Given the description of an element on the screen output the (x, y) to click on. 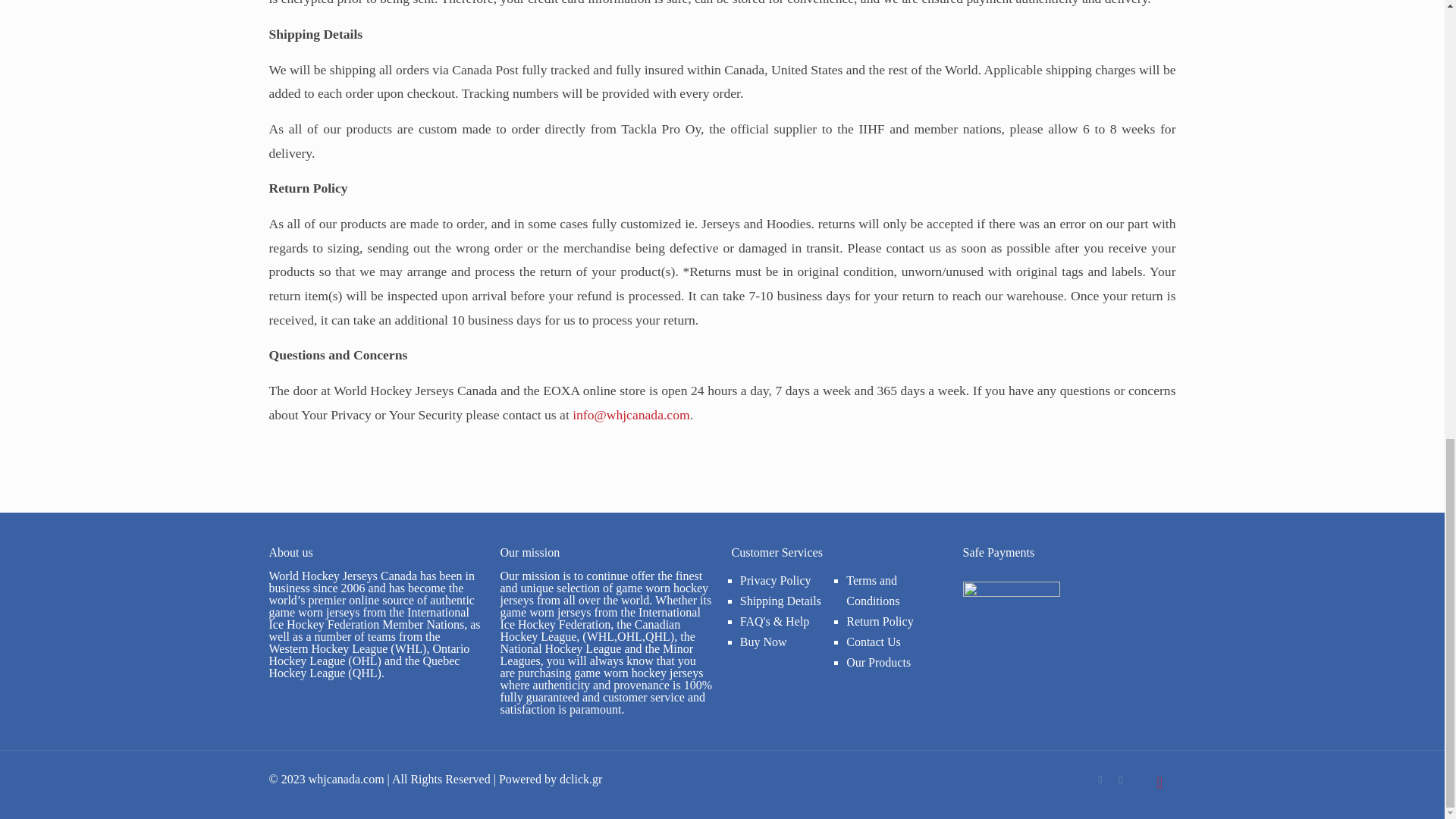
Privacy Policy (774, 580)
Return Policy (878, 621)
Terms and Conditions (872, 590)
Facebook (1100, 778)
dclick.gr (580, 779)
Buy Now (763, 640)
Shipping Details (780, 599)
Instagram (1121, 778)
Contact Us (873, 640)
Our Products (878, 662)
